Given the description of an element on the screen output the (x, y) to click on. 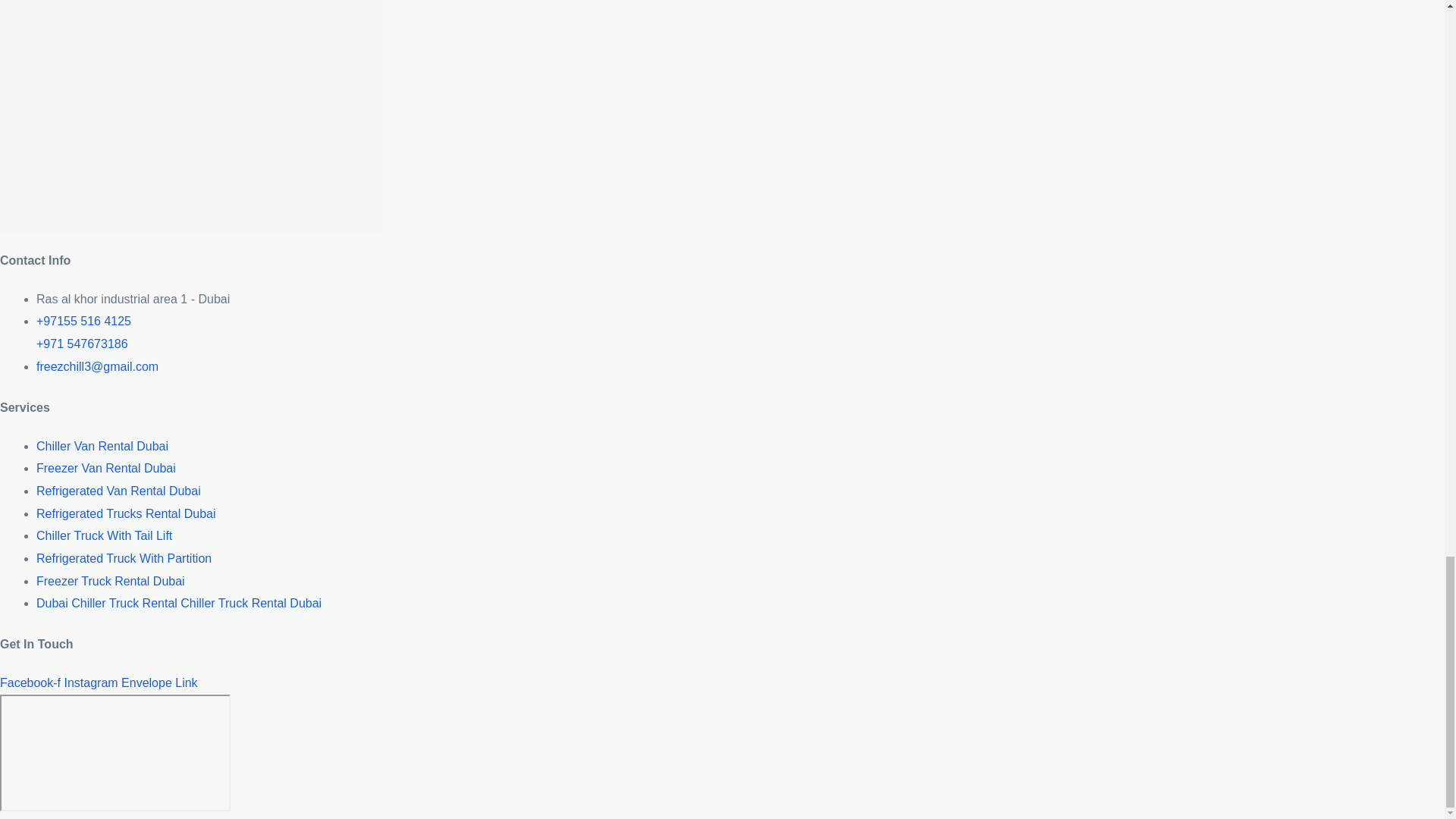
tareeq al najoom freezchill services (115, 752)
